Given the description of an element on the screen output the (x, y) to click on. 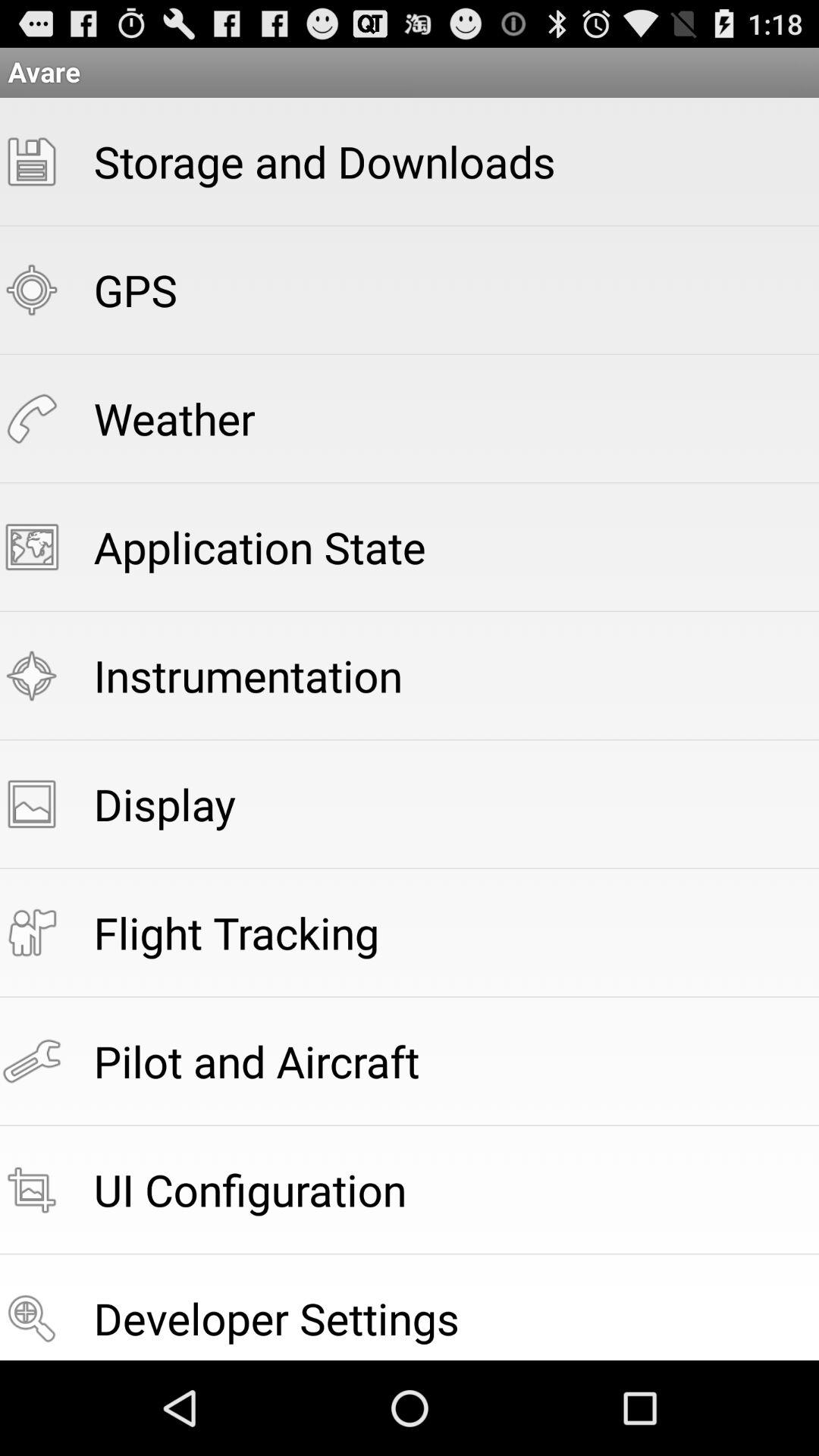
choose app below the weather icon (259, 546)
